Given the description of an element on the screen output the (x, y) to click on. 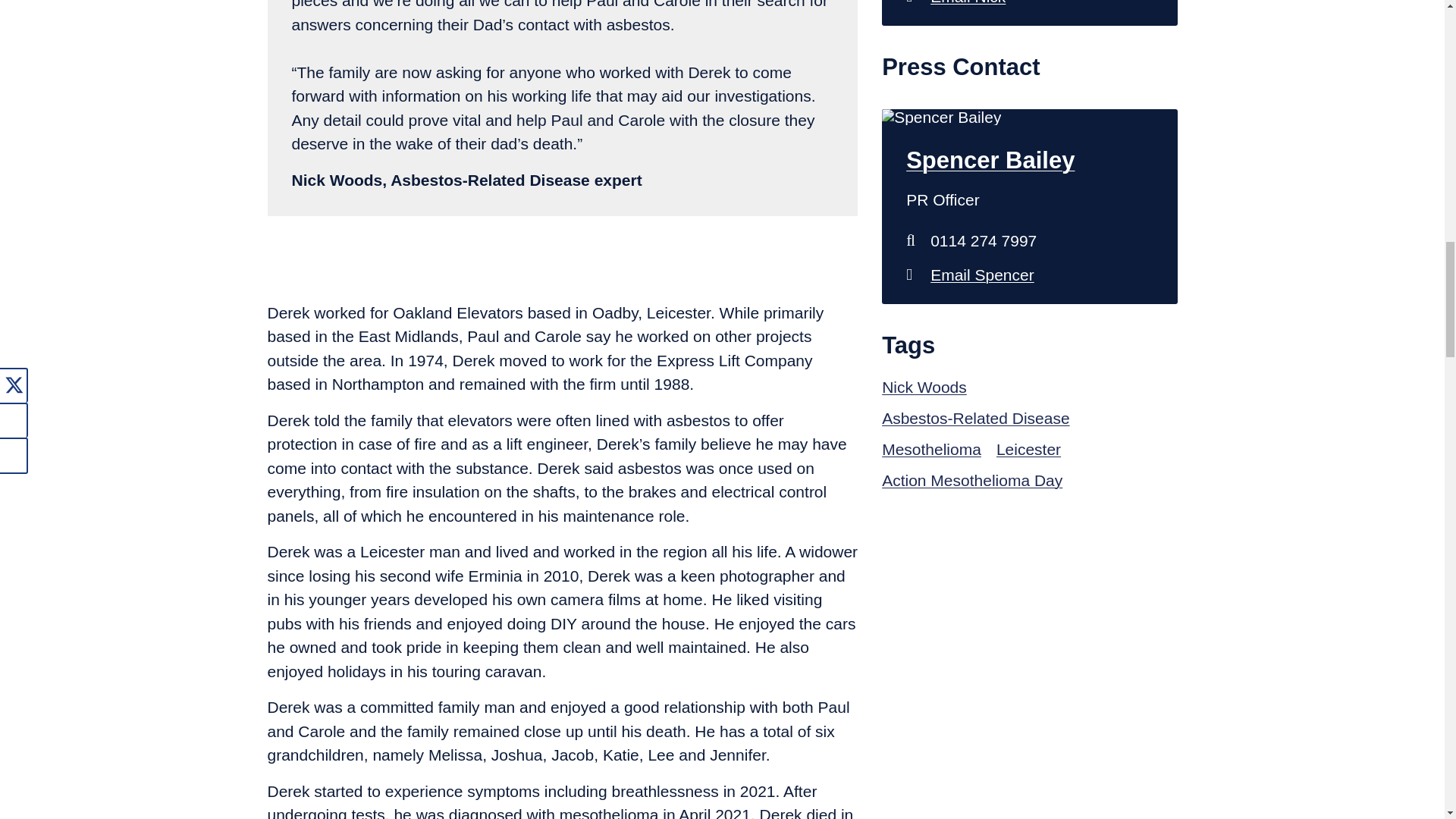
Spencer Bailey (1029, 274)
Contact Nick Woods (1029, 6)
View Profile for Spencer Bailey (1029, 161)
